Given the description of an element on the screen output the (x, y) to click on. 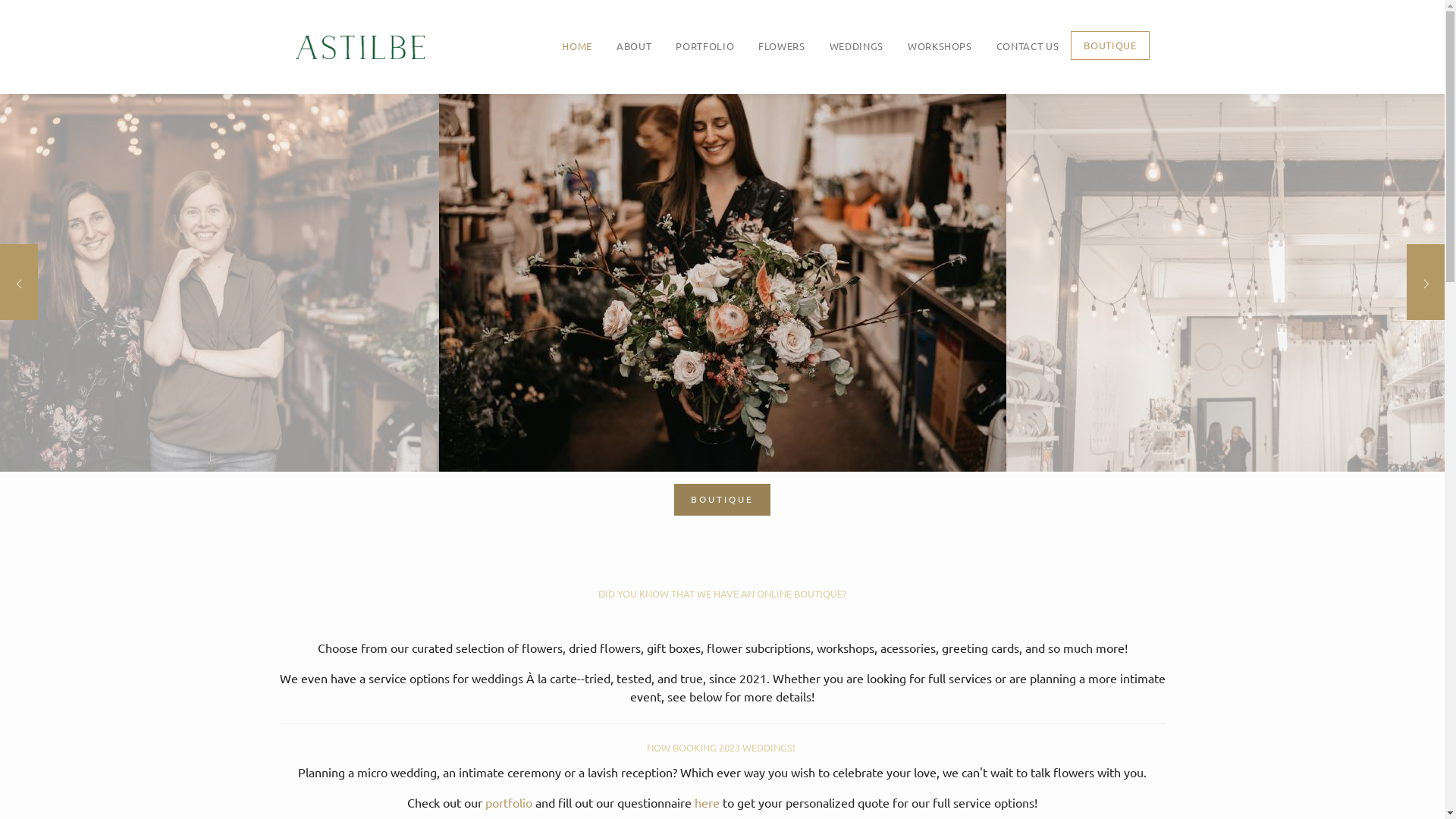
ABOUT Element type: text (633, 46)
BOUTIQUE Element type: text (722, 499)
WORKSHOPS Element type: text (939, 46)
FLOWERS Element type: text (781, 46)
portfolio Element type: text (508, 801)
PORTFOLIO Element type: text (704, 46)
WEDDINGS Element type: text (856, 46)
pinterest Element type: hover (755, 680)
instagram Element type: hover (721, 680)
here Element type: text (708, 801)
facebook Element type: hover (688, 680)
HOME Element type: text (576, 46)
CONTACT US Element type: text (1027, 46)
BOUTIQUE Element type: text (1109, 45)
